Given the description of an element on the screen output the (x, y) to click on. 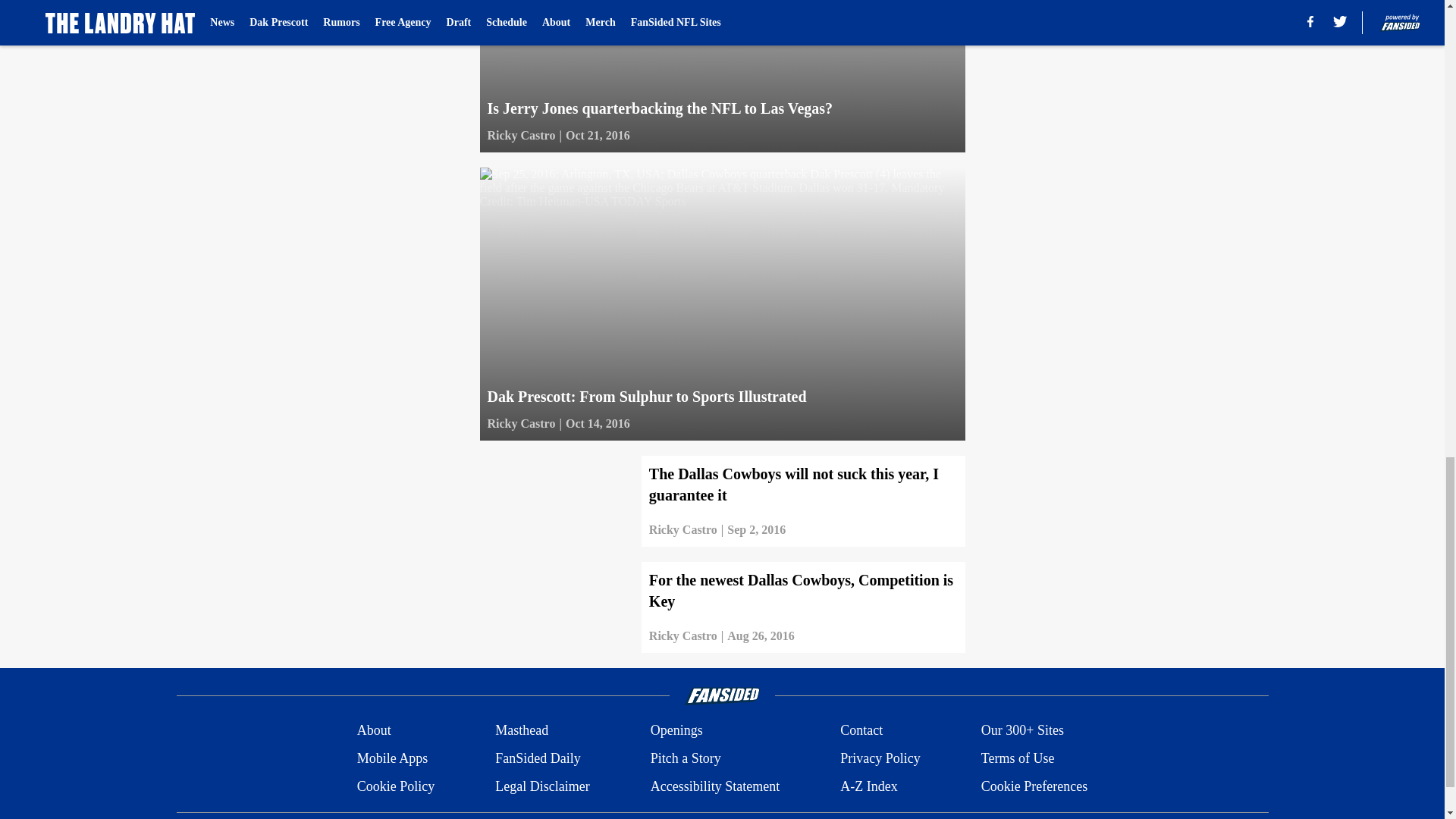
Mobile Apps (392, 758)
Masthead (521, 730)
Openings (676, 730)
Pitch a Story (685, 758)
Ricky Castro (520, 423)
Ricky Castro (520, 135)
FanSided Daily (537, 758)
For the newest Dallas Cowboys, Competition is Key (721, 606)
Cookie Policy (395, 786)
Ricky Castro (683, 529)
Contact (861, 730)
Privacy Policy (880, 758)
Legal Disclaimer (542, 786)
About (373, 730)
Is Jerry Jones quarterbacking the NFL to Las Vegas? (721, 76)
